Given the description of an element on the screen output the (x, y) to click on. 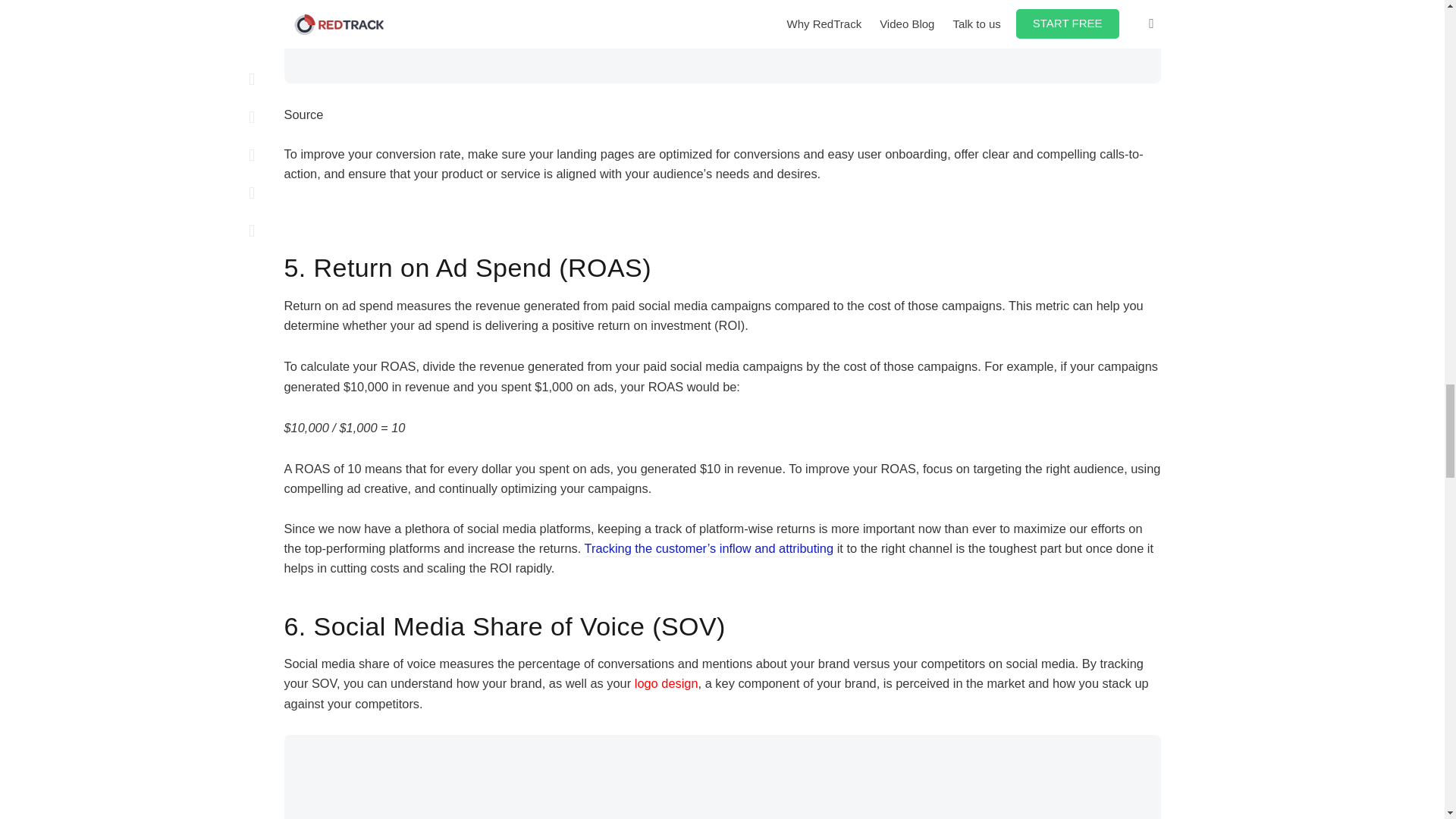
improve your conversion rate (379, 153)
logo design (666, 683)
Source (303, 123)
